Given the description of an element on the screen output the (x, y) to click on. 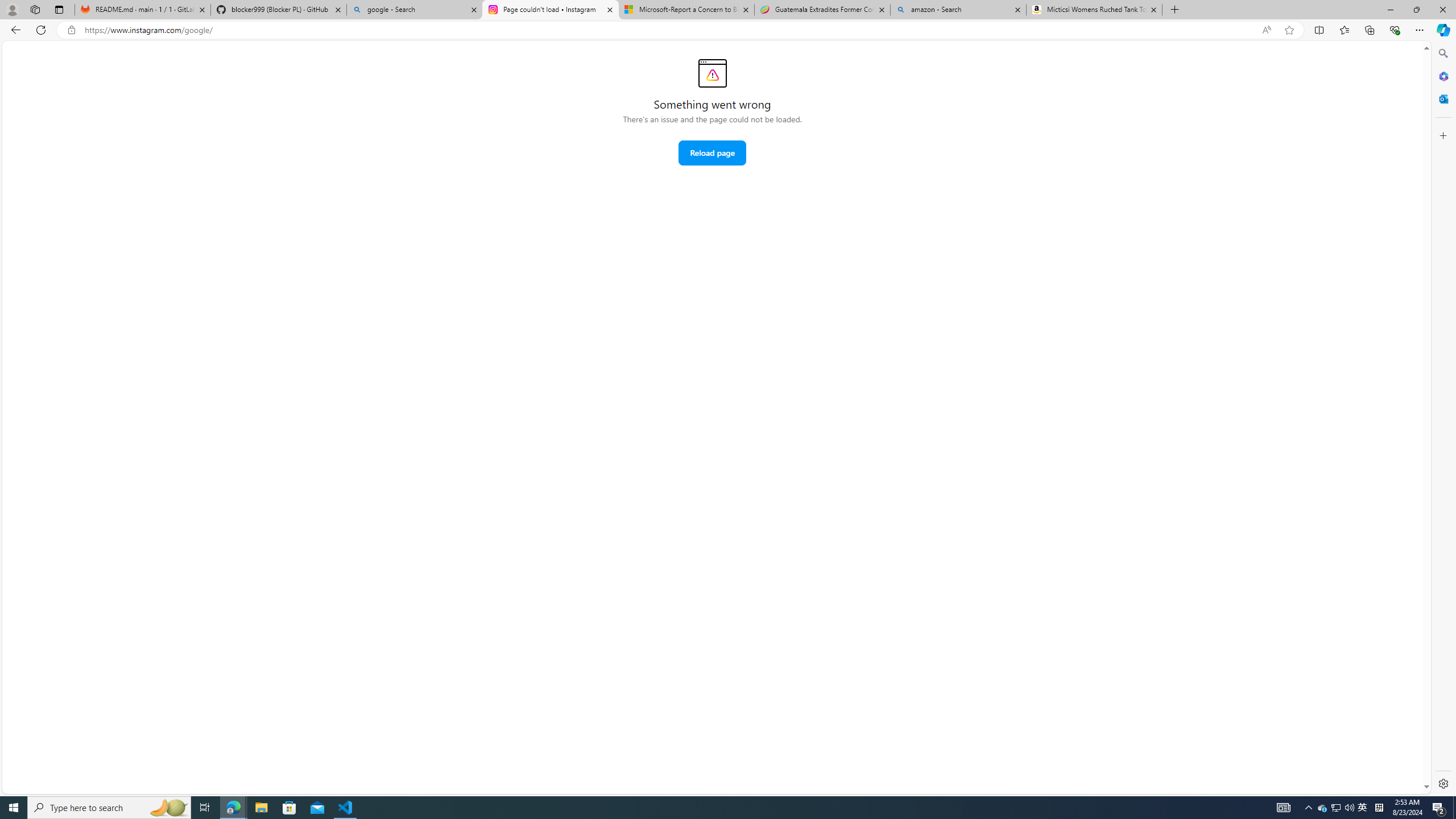
amazon - Search (957, 9)
New Tab (1174, 9)
Favorites (1344, 29)
Personal Profile (12, 9)
Refresh (40, 29)
google - Search (414, 9)
Add this page to favorites (Ctrl+D) (1289, 29)
Microsoft-Report a Concern to Bing (685, 9)
View site information (70, 29)
Search (1442, 53)
Settings (1442, 783)
Workspaces (34, 9)
